Given the description of an element on the screen output the (x, y) to click on. 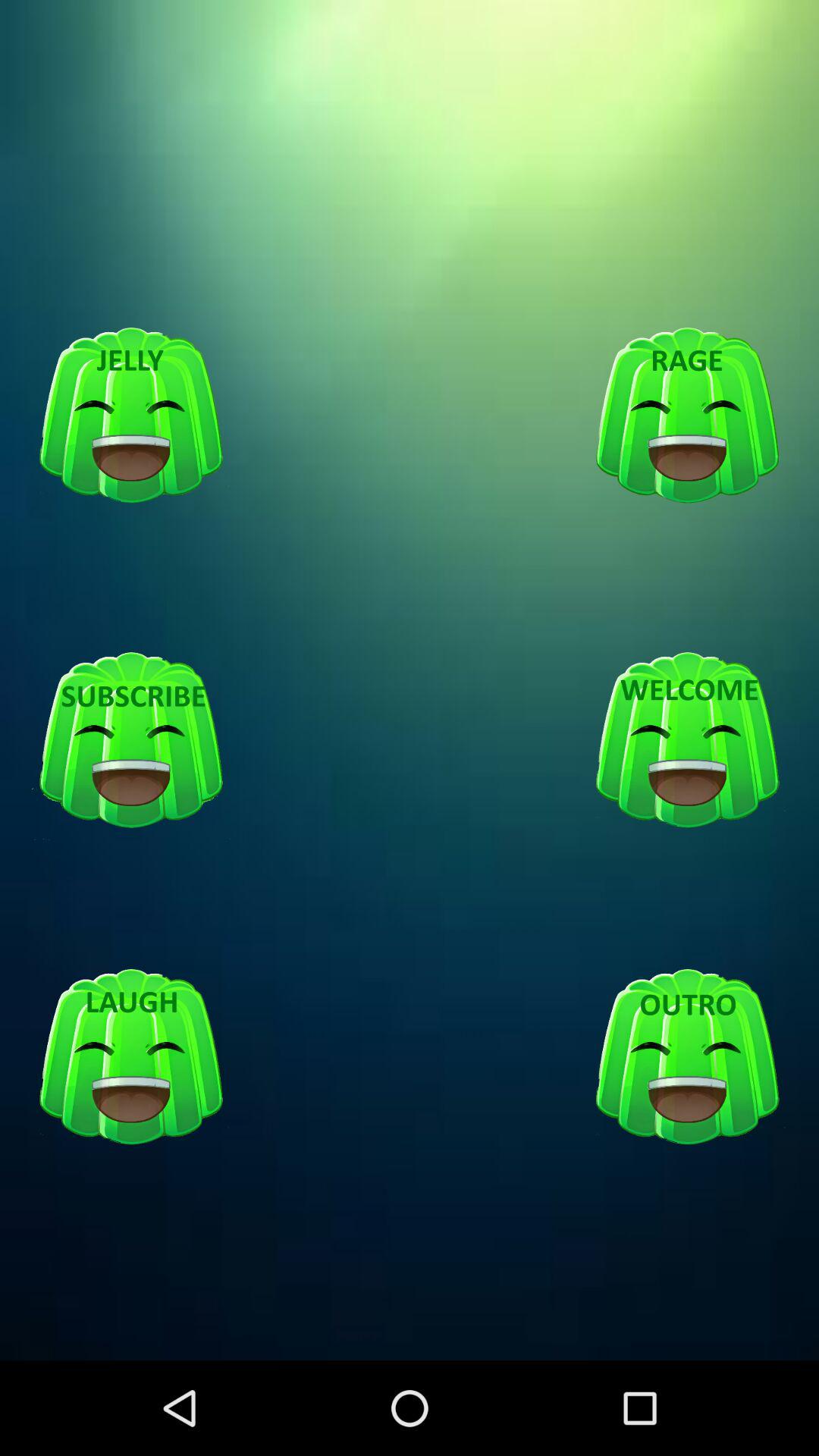
select rage (687, 415)
